Given the description of an element on the screen output the (x, y) to click on. 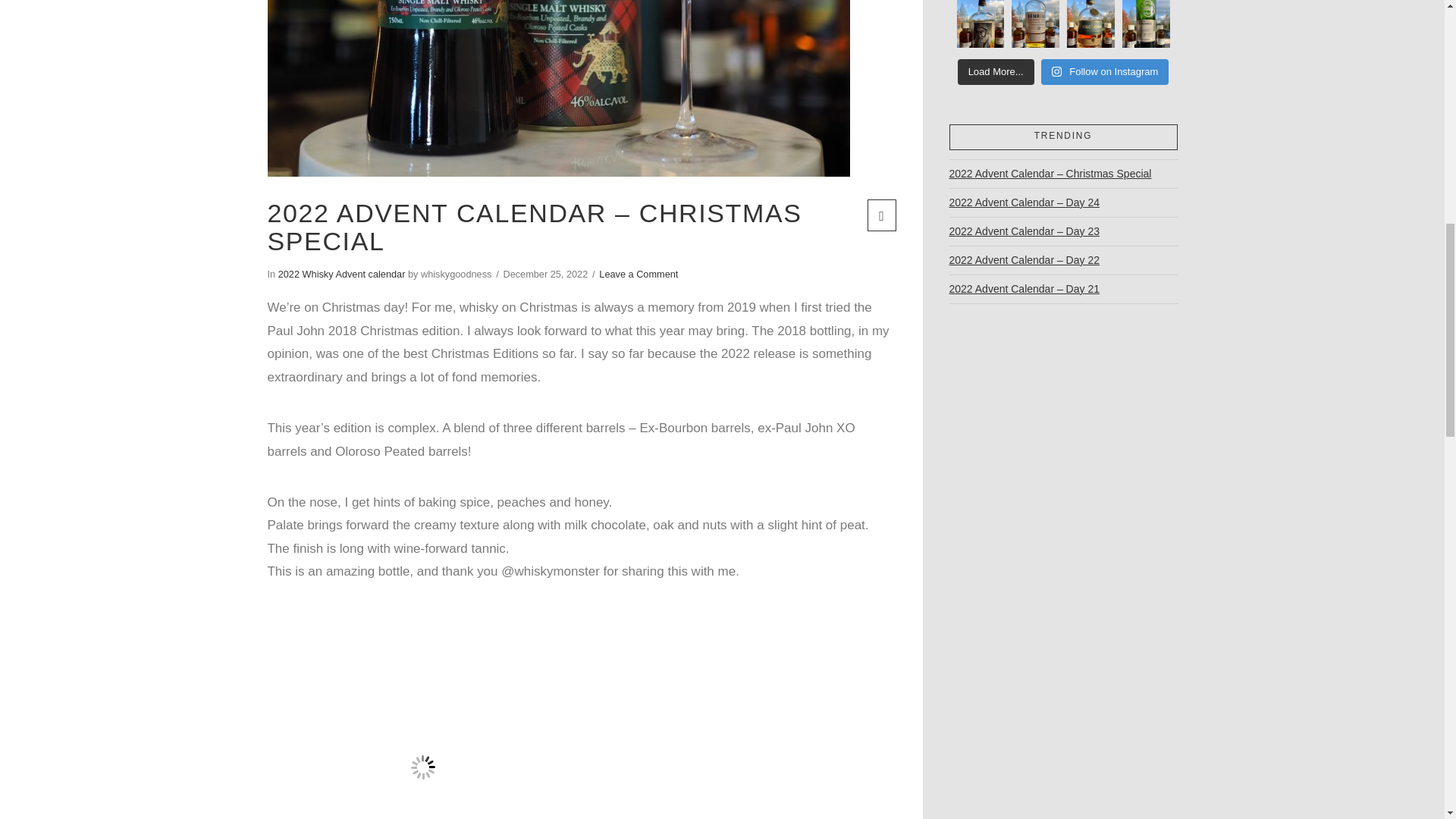
Leave a Comment (638, 274)
2022 Whisky Advent calendar (342, 274)
